Given the description of an element on the screen output the (x, y) to click on. 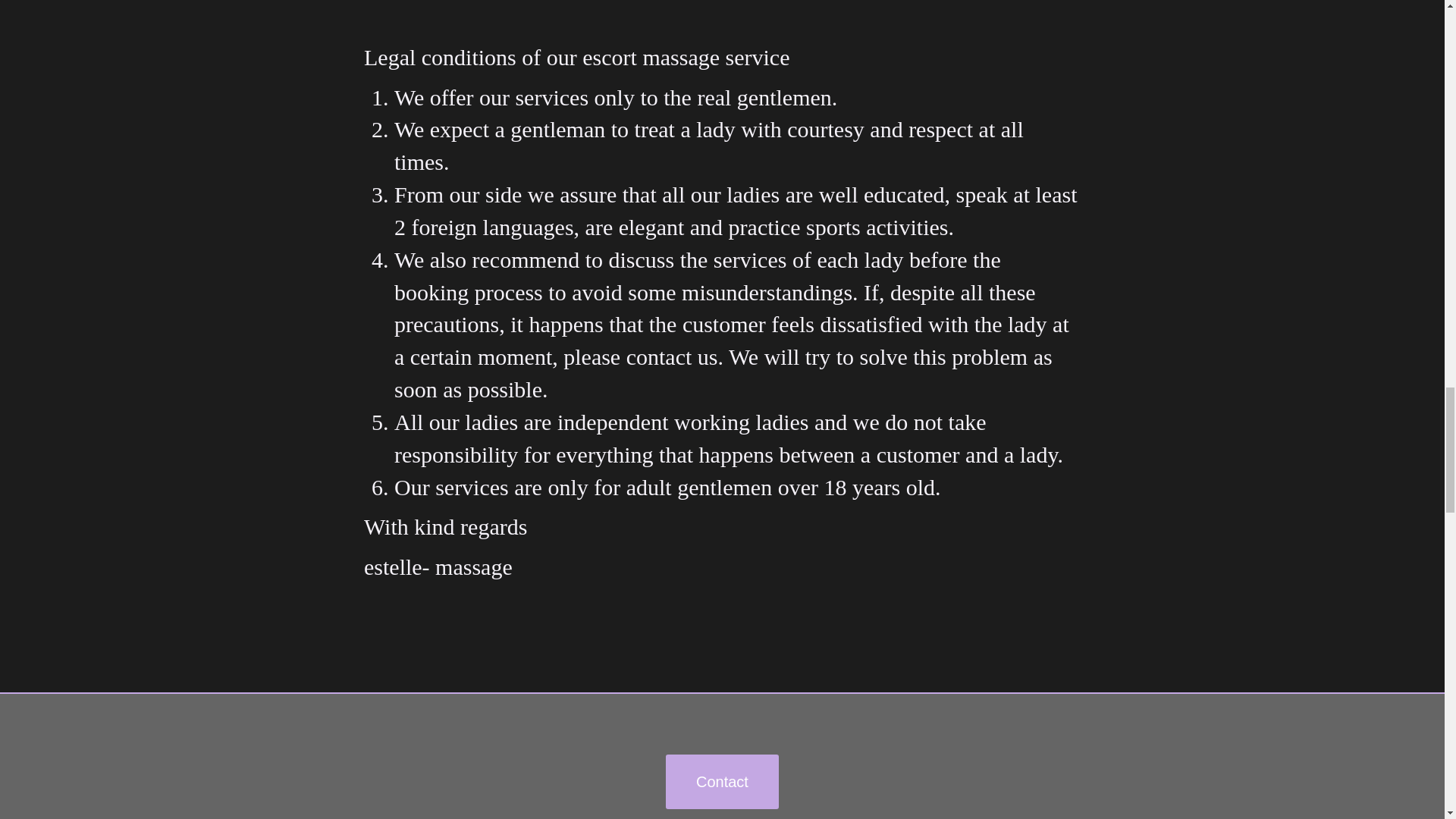
Contact (721, 781)
